Given the description of an element on the screen output the (x, y) to click on. 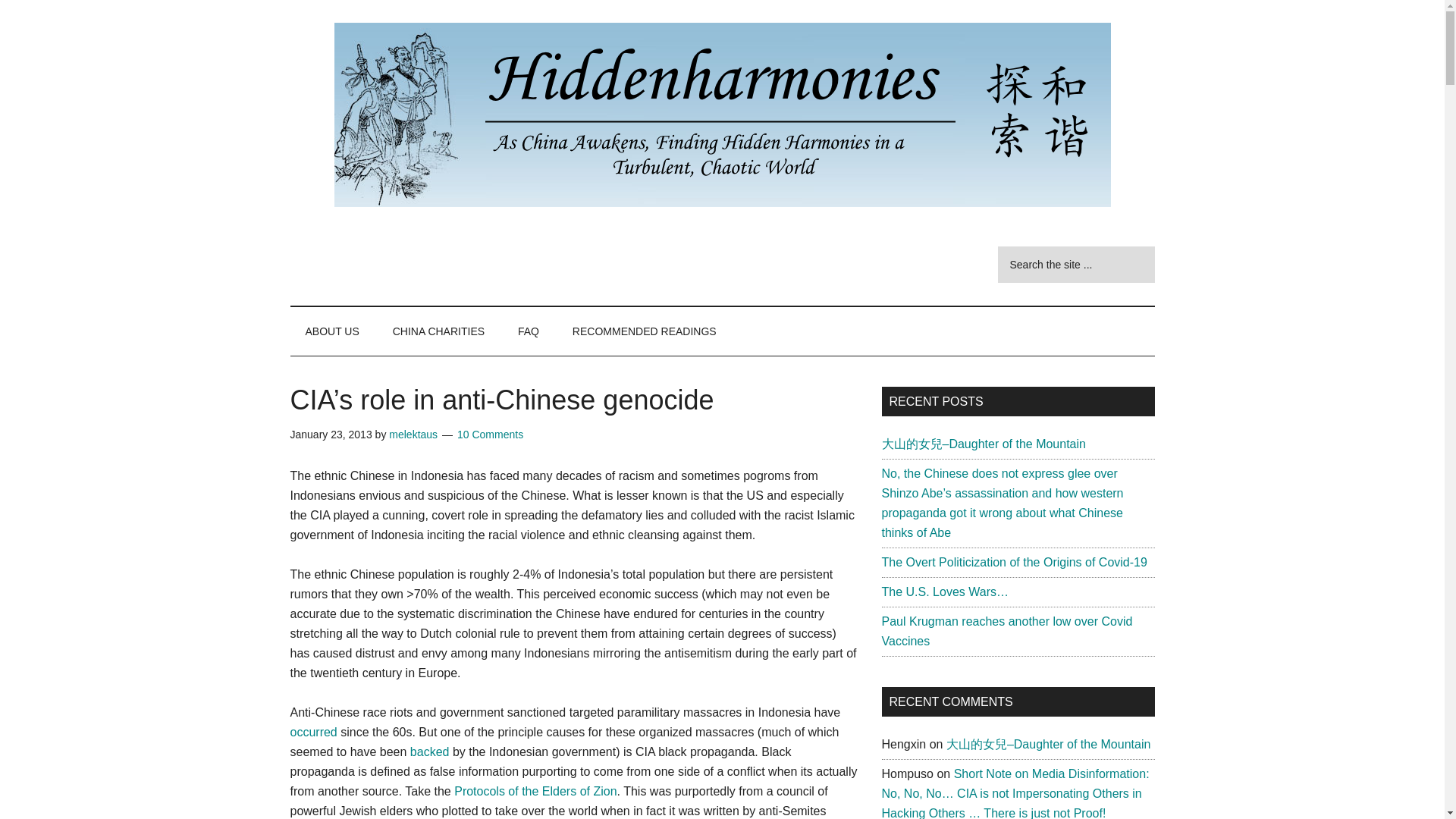
Protocols of the Elders of Zion (534, 790)
10 Comments (489, 434)
ABOUT US (331, 331)
FAQ (528, 331)
CHINA CHARITIES (438, 331)
RECOMMENDED READINGS (644, 331)
occurred (312, 731)
melektaus (413, 434)
backed (429, 751)
